Given the description of an element on the screen output the (x, y) to click on. 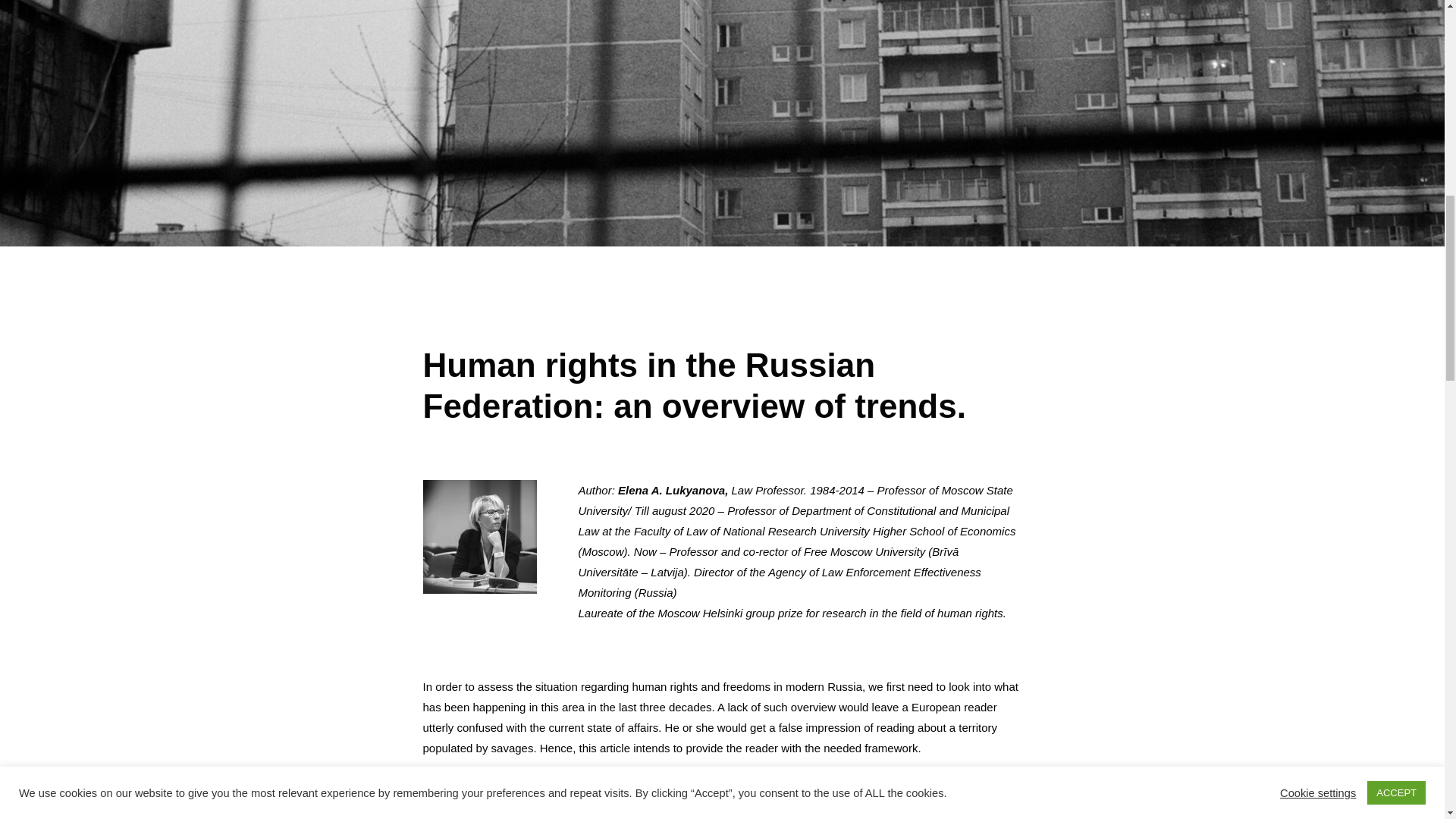
Page 1 (722, 385)
